Given the description of an element on the screen output the (x, y) to click on. 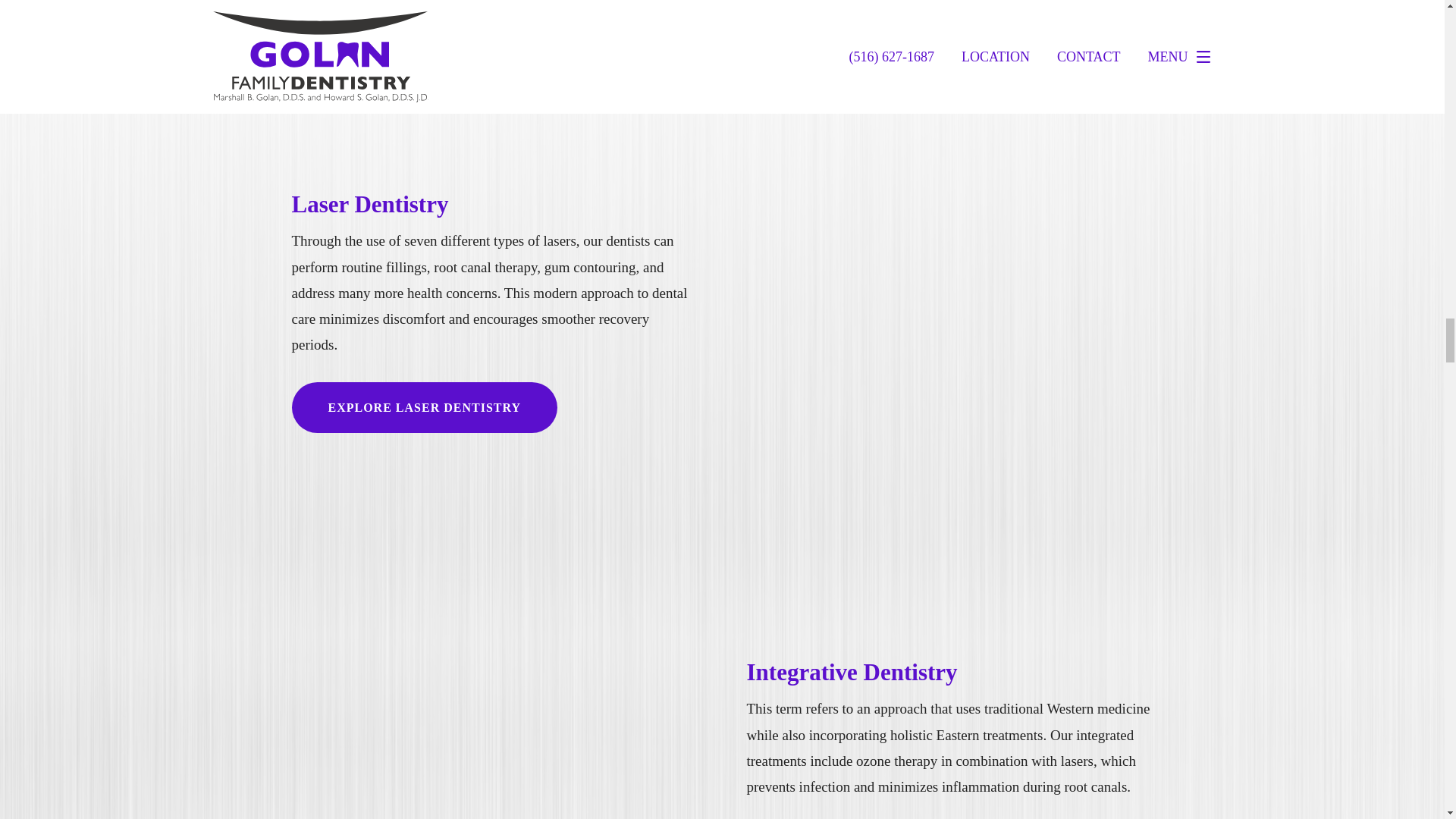
EXPLORE LASER DENTISTRY (424, 407)
Laser Dentistry (369, 203)
Integrative Dentistry (850, 672)
